Given the description of an element on the screen output the (x, y) to click on. 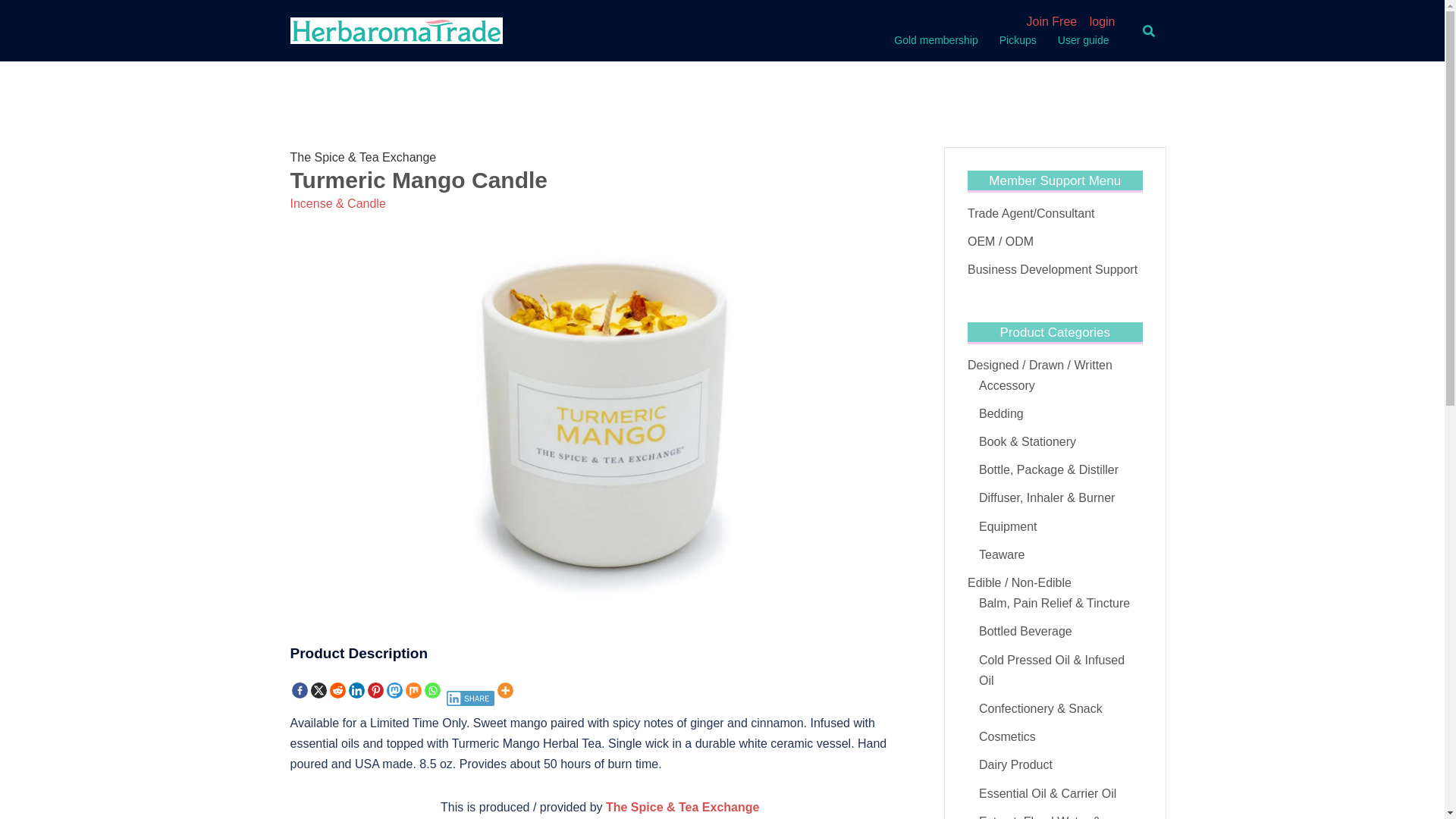
Join Free (1051, 21)
SHARE (470, 695)
More (505, 690)
Gold membership (935, 40)
X (318, 690)
Whatsapp (433, 690)
Mix (412, 690)
User guide (1083, 40)
Facebook (299, 690)
Pickups (1017, 40)
